Given the description of an element on the screen output the (x, y) to click on. 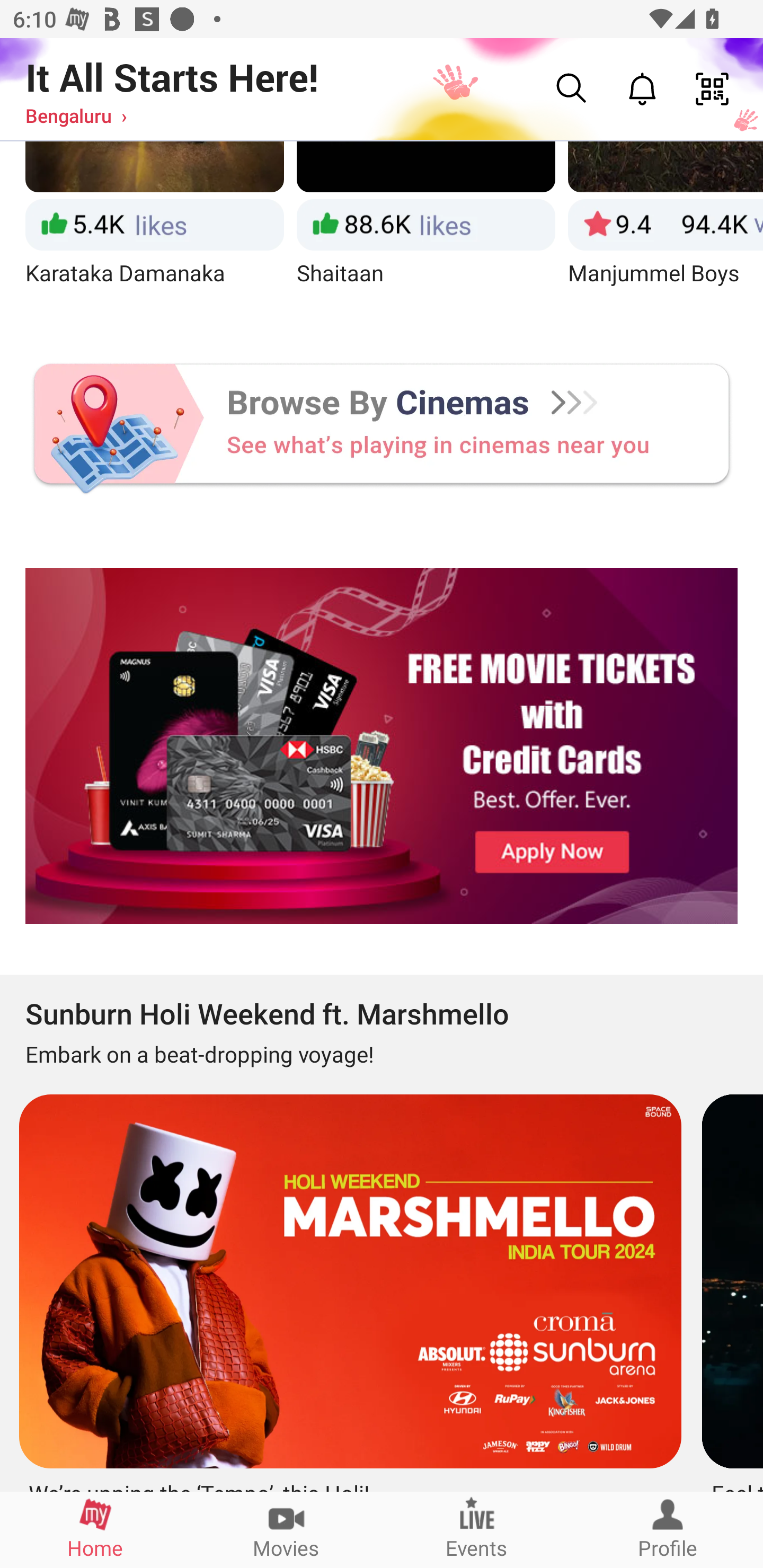
Bengaluru  › (76, 114)
Karataka Damanaka (154, 230)
Shaitaan (425, 230)
Manjummel Boys (665, 230)
We’re upping the ‘Tempo’, this Holi!  (347, 1286)
Home (95, 1529)
Movies (285, 1529)
Events (476, 1529)
Profile (667, 1529)
